Given the description of an element on the screen output the (x, y) to click on. 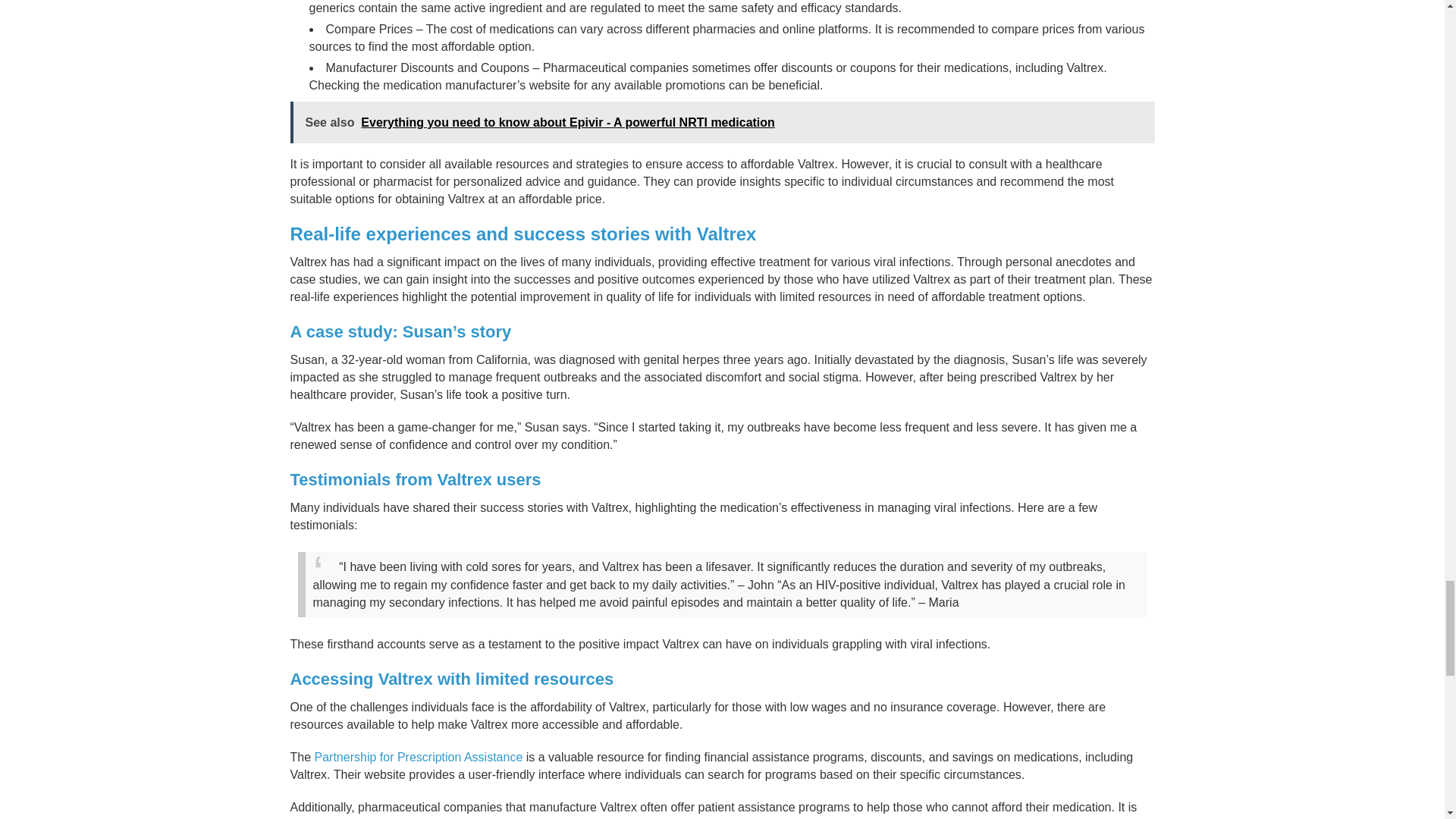
Partnership for Prescription Assistance (418, 757)
